Given the description of an element on the screen output the (x, y) to click on. 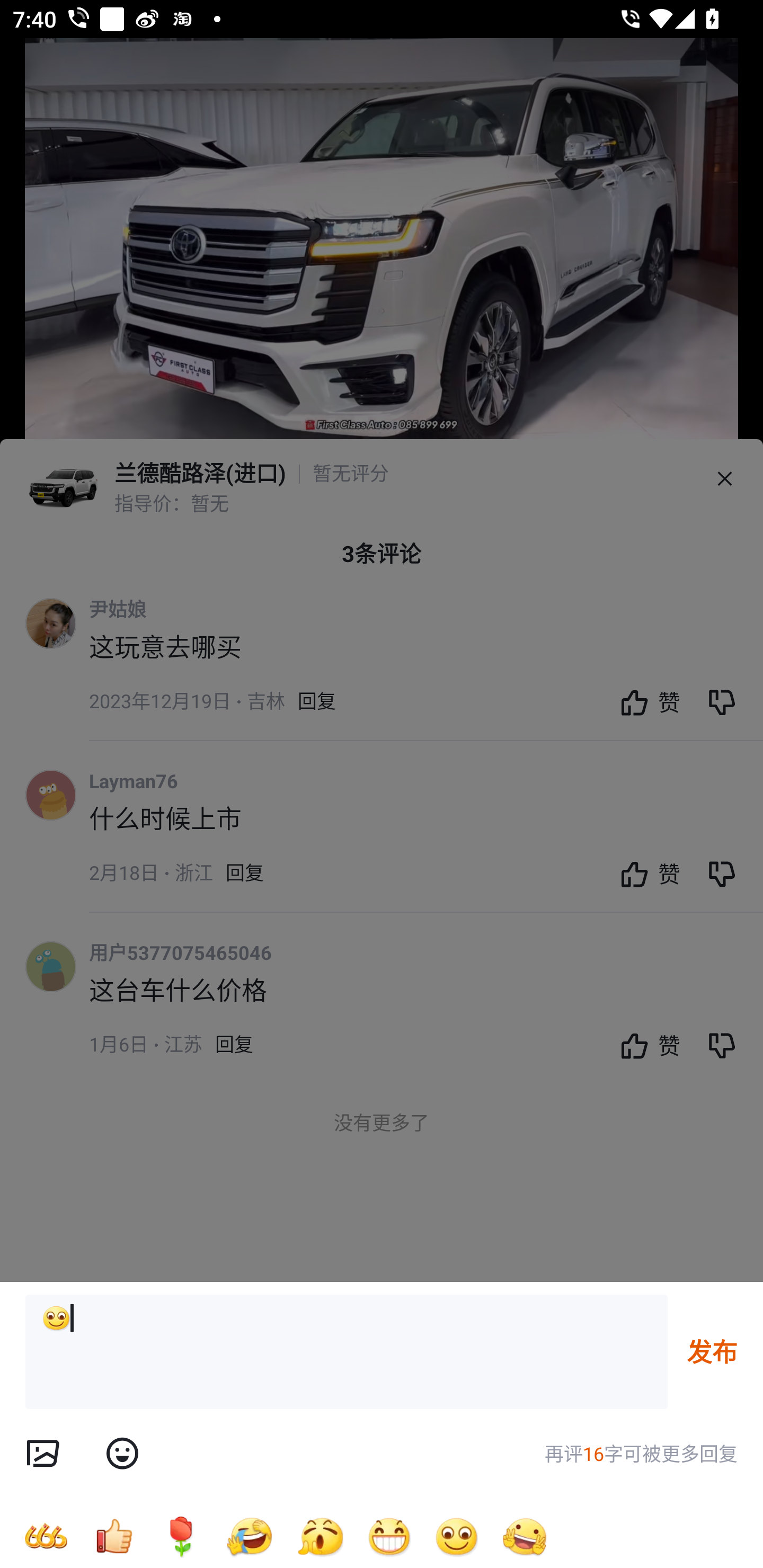
[微笑] (346, 1352)
 (42, 1453)
 (122, 1453)
再评16字可被更多回复 (640, 1453)
[666] (45, 1535)
[赞] (112, 1535)
[玫瑰] (180, 1535)
[我想静静] (249, 1535)
[小鼓掌] (320, 1535)
[呲牙] (389, 1535)
[微笑] (456, 1535)
[耶] (524, 1535)
